Given the description of an element on the screen output the (x, y) to click on. 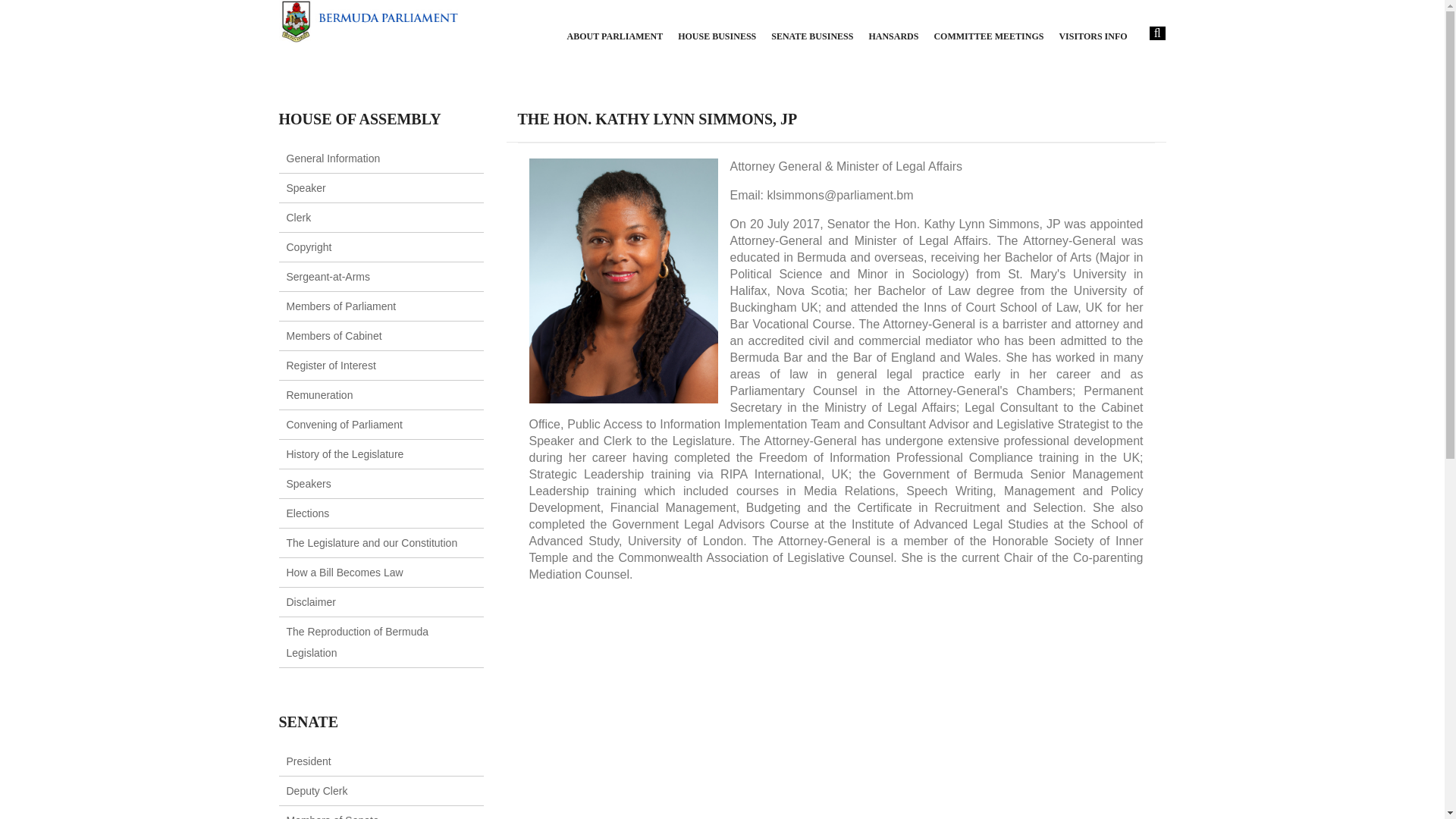
Sergeant-at-Arms (327, 276)
Elections (308, 512)
Members of Cabinet (333, 336)
Convening of Parliament (344, 424)
HOUSE BUSINESS (716, 36)
Clerk (298, 217)
President (308, 761)
Register of Interest (330, 365)
COMMITTEE MEETINGS (988, 36)
Remuneration (319, 395)
History of the Legislature (345, 453)
Speaker (306, 187)
Disclaimer (311, 602)
Members of Parliament (341, 306)
Copyright (308, 246)
